Given the description of an element on the screen output the (x, y) to click on. 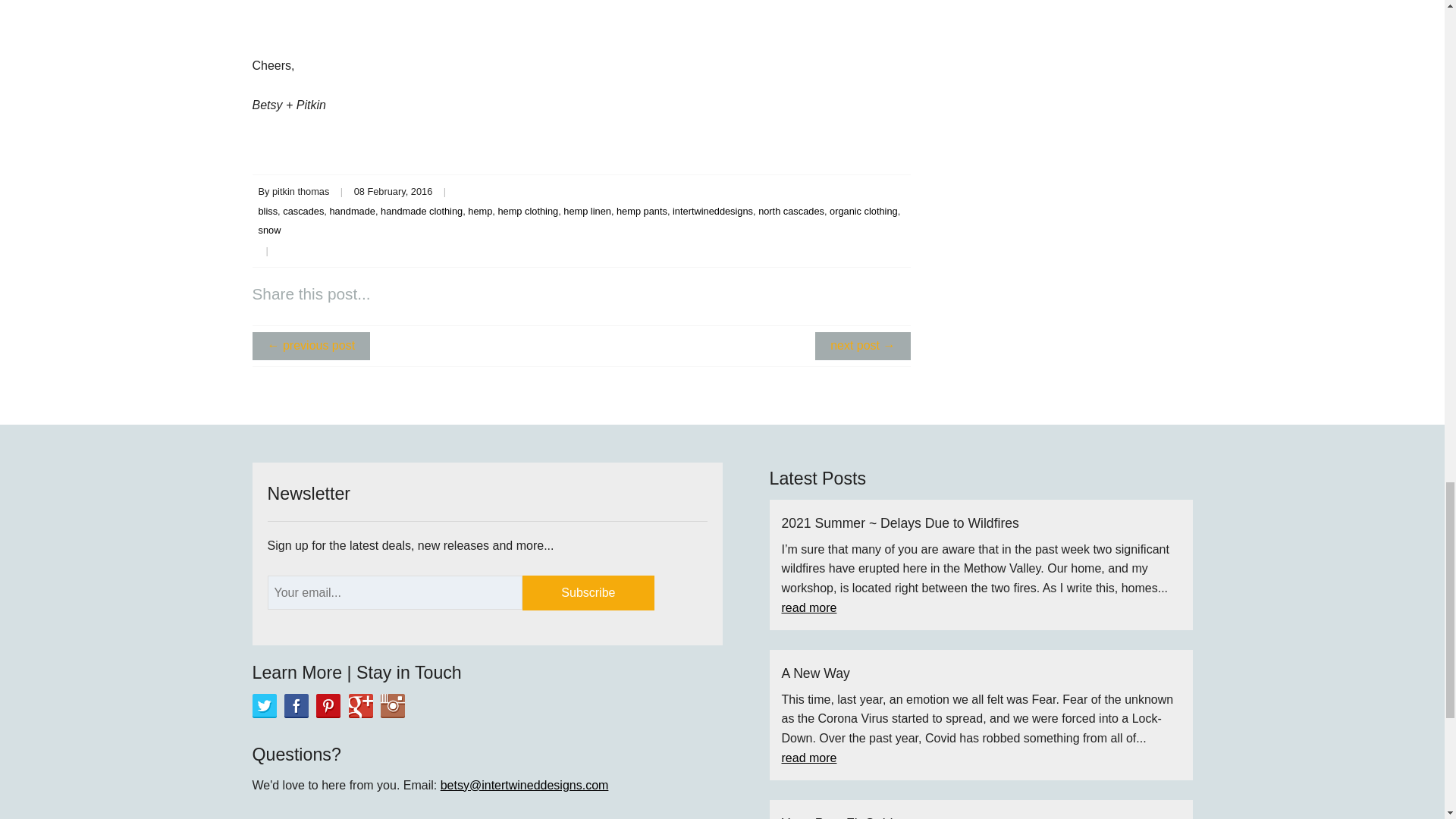
hemp clothing (527, 211)
hemp linen (587, 211)
bliss (267, 211)
cascades (302, 211)
handmade clothing (421, 211)
north cascades (791, 211)
intertwineddesigns (712, 211)
handmade (351, 211)
hemp pants (640, 211)
hemp (479, 211)
